Given the description of an element on the screen output the (x, y) to click on. 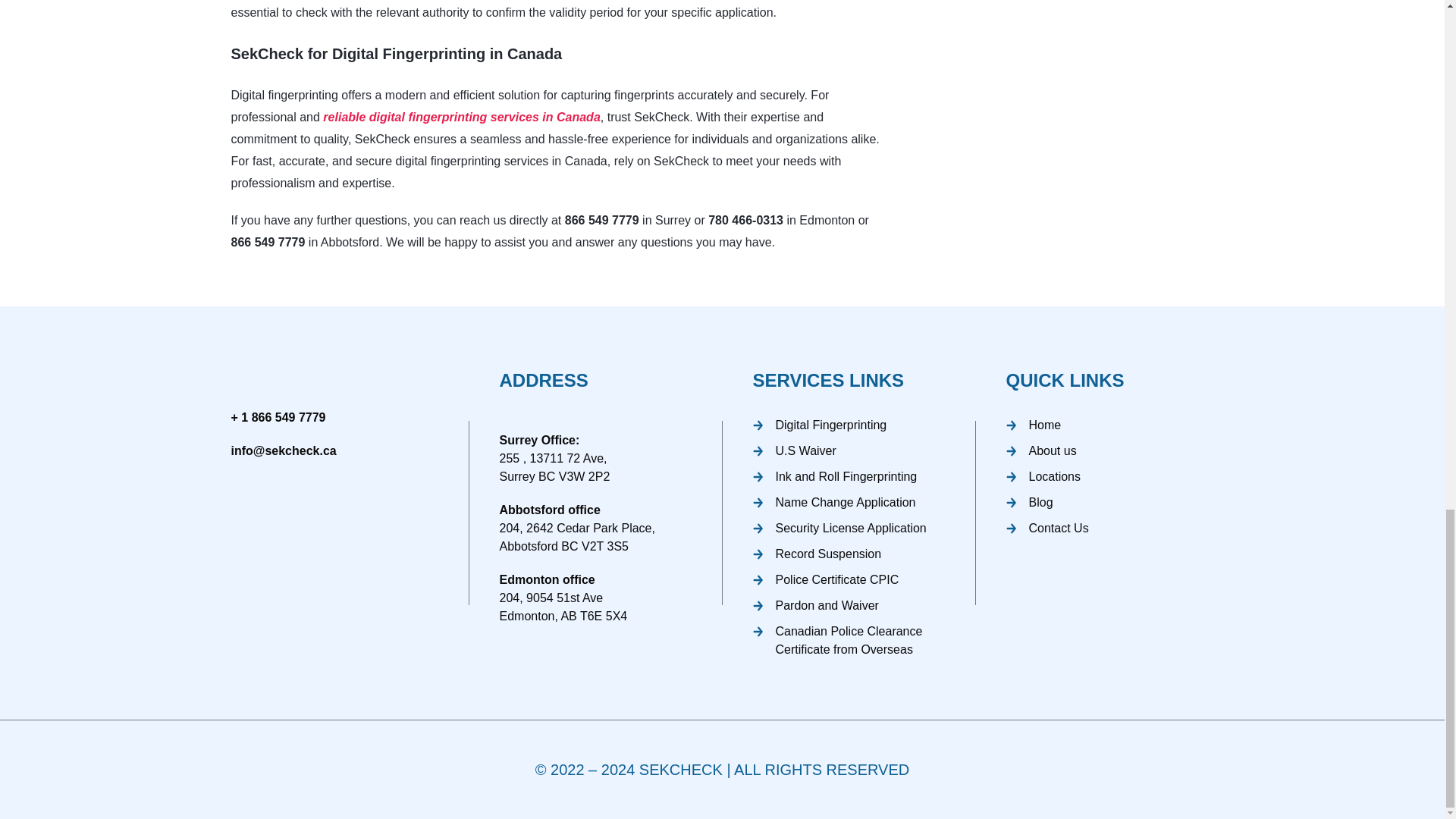
reliable digital fingerprinting services in Canada (461, 116)
